Given the description of an element on the screen output the (x, y) to click on. 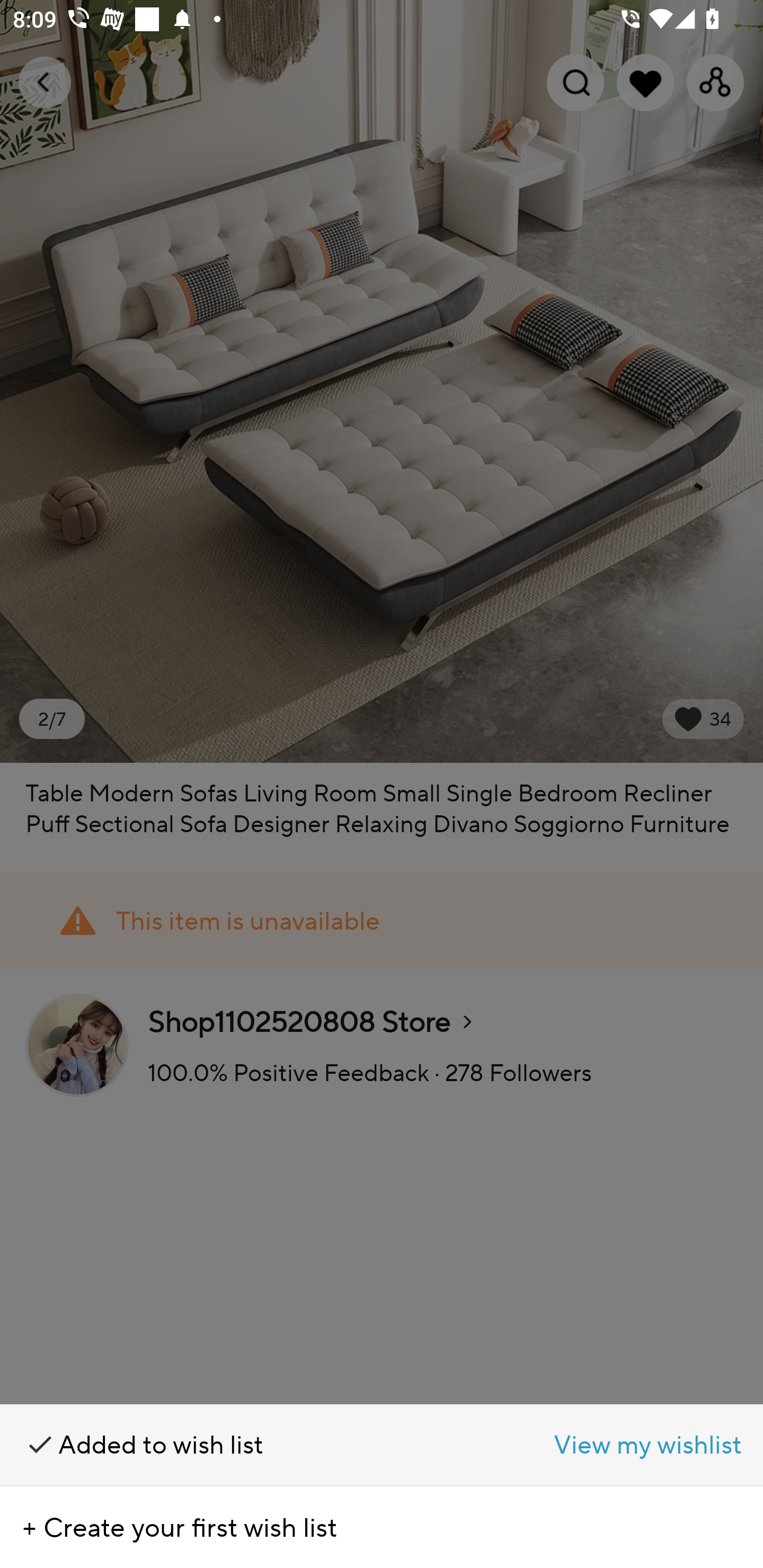
View my wishlist (572, 1444)
+ Create your first wish list (381, 1527)
